Given the description of an element on the screen output the (x, y) to click on. 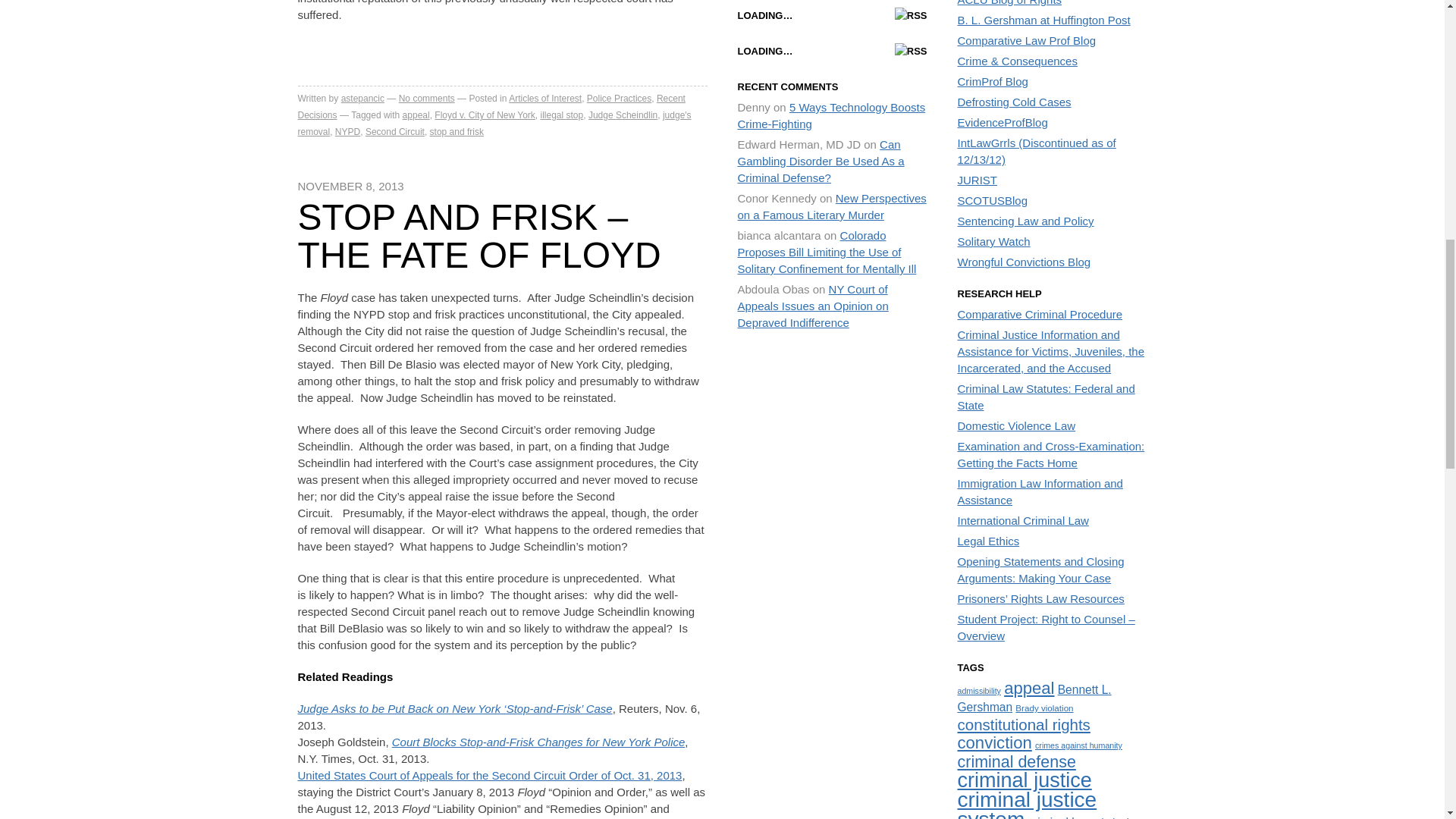
Syndicate this content (911, 15)
appeal (416, 114)
Posts by astepancic (362, 98)
Recent Decisions (490, 106)
astepancic (362, 98)
Articles of Interest (544, 98)
judge's removal (493, 123)
No comments (426, 98)
Second Circuit (395, 131)
